Given the description of an element on the screen output the (x, y) to click on. 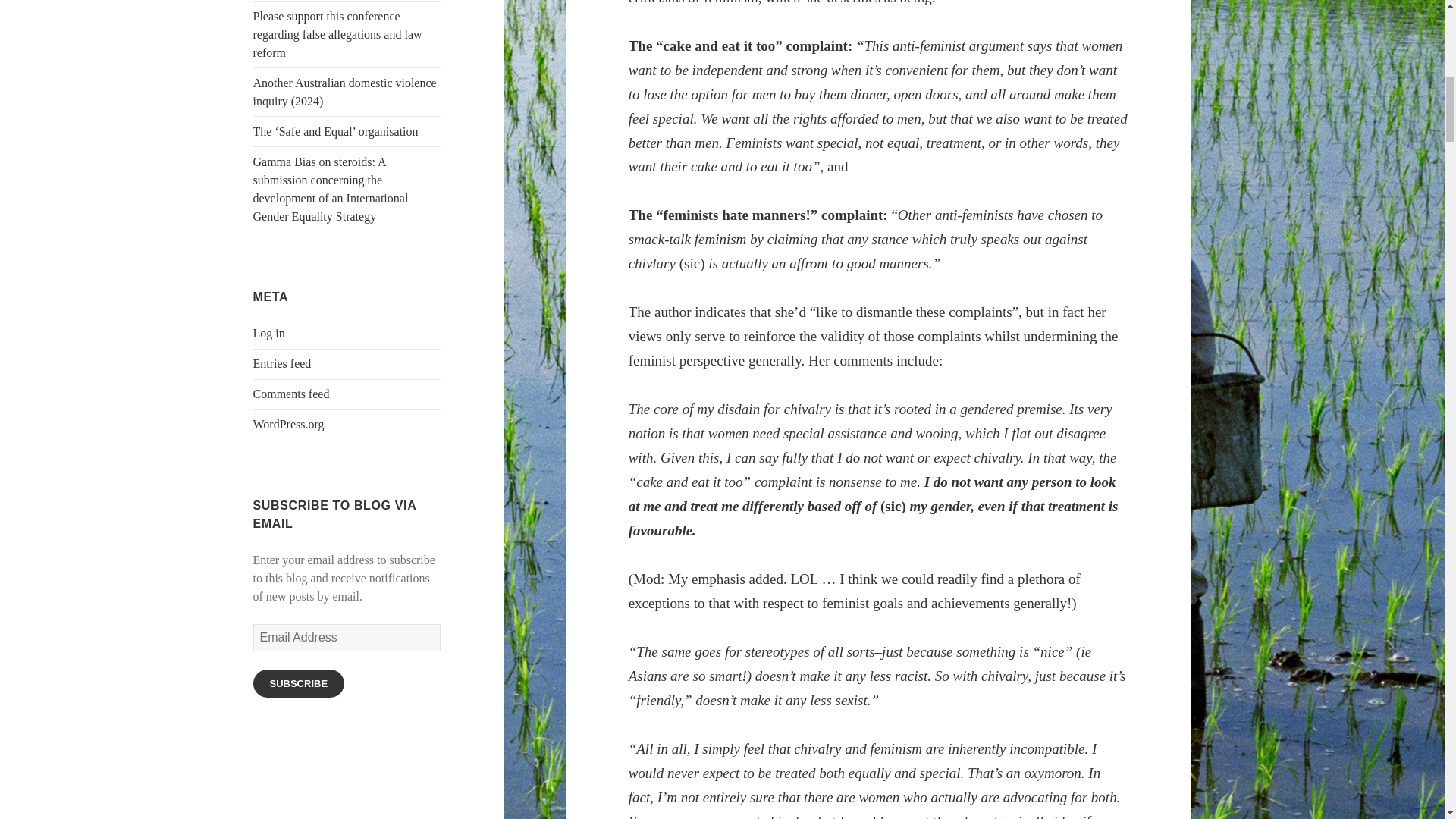
Comments feed (291, 393)
Log in (269, 332)
WordPress.org (288, 423)
Entries feed (282, 363)
SUBSCRIBE (299, 683)
